Given the description of an element on the screen output the (x, y) to click on. 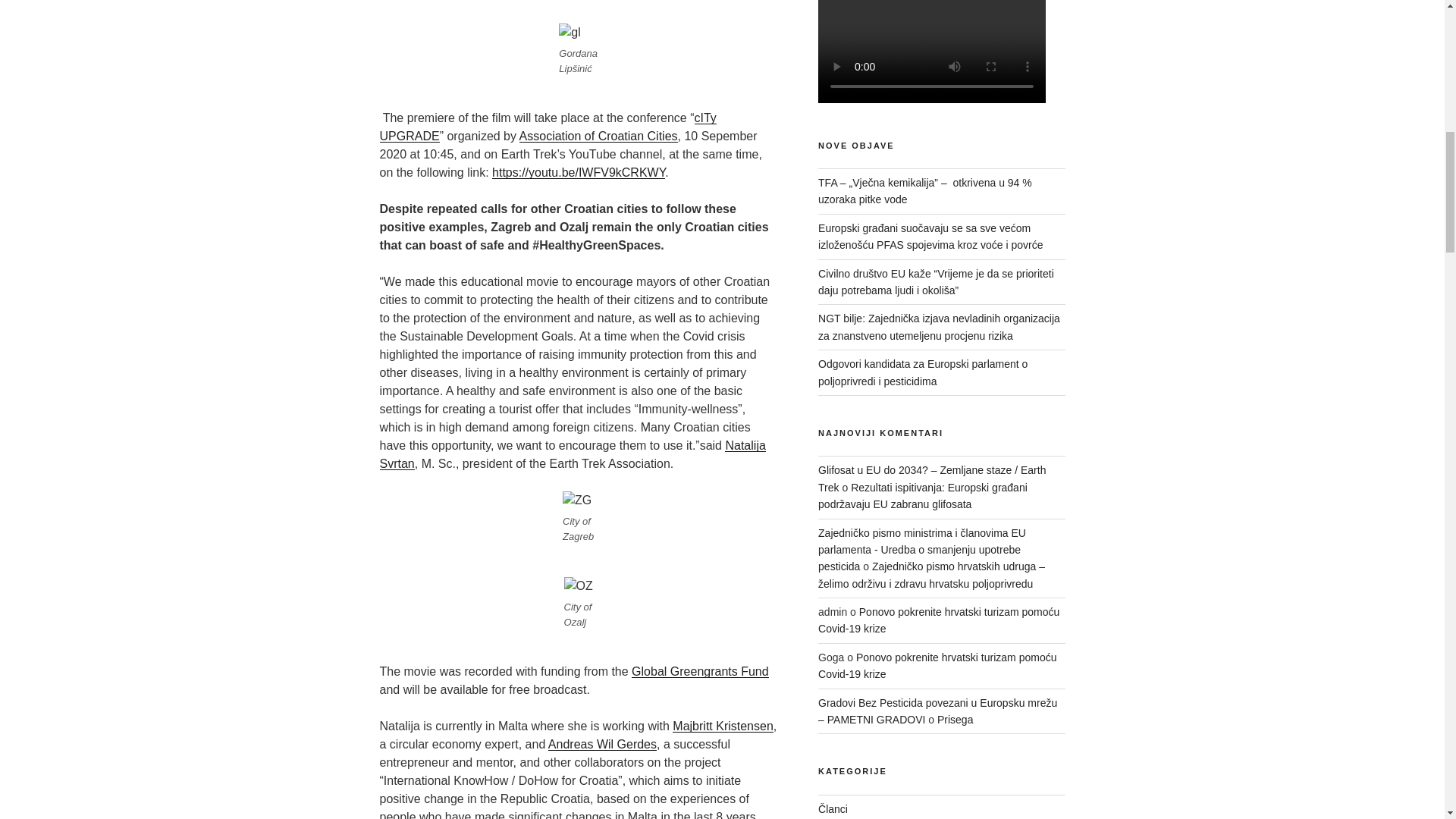
cITy UPGRADE (547, 126)
Global Greengrants Fund (699, 671)
Majbritt Kristensen (722, 725)
Andreas Wil Gerdes (602, 744)
Natalija Svrtan (571, 454)
Association of Croatian Cities (598, 135)
